Given the description of an element on the screen output the (x, y) to click on. 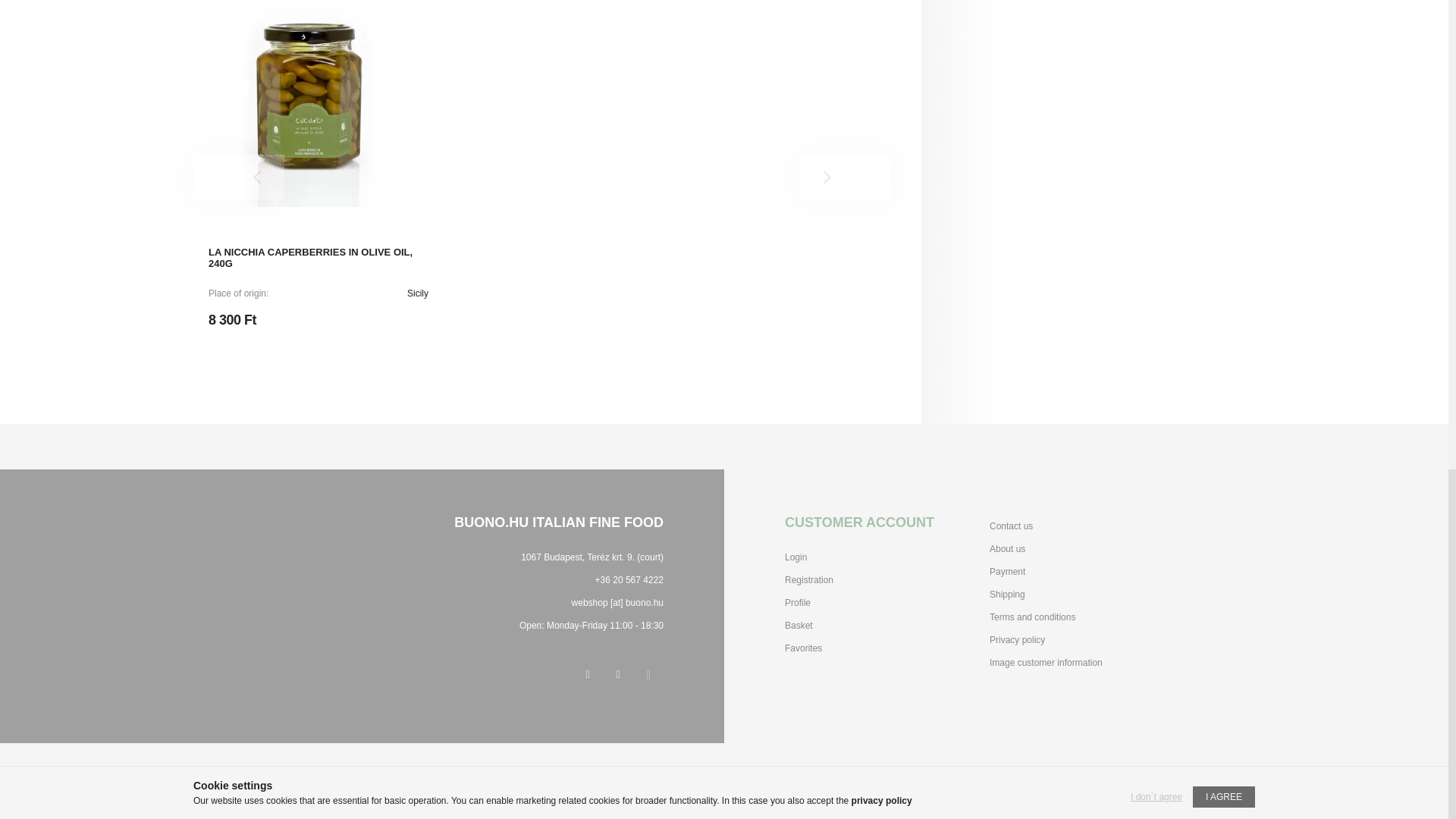
Cookie settings (648, 675)
La Nicchia Caperberries in olive oil, 240g (308, 106)
